Given the description of an element on the screen output the (x, y) to click on. 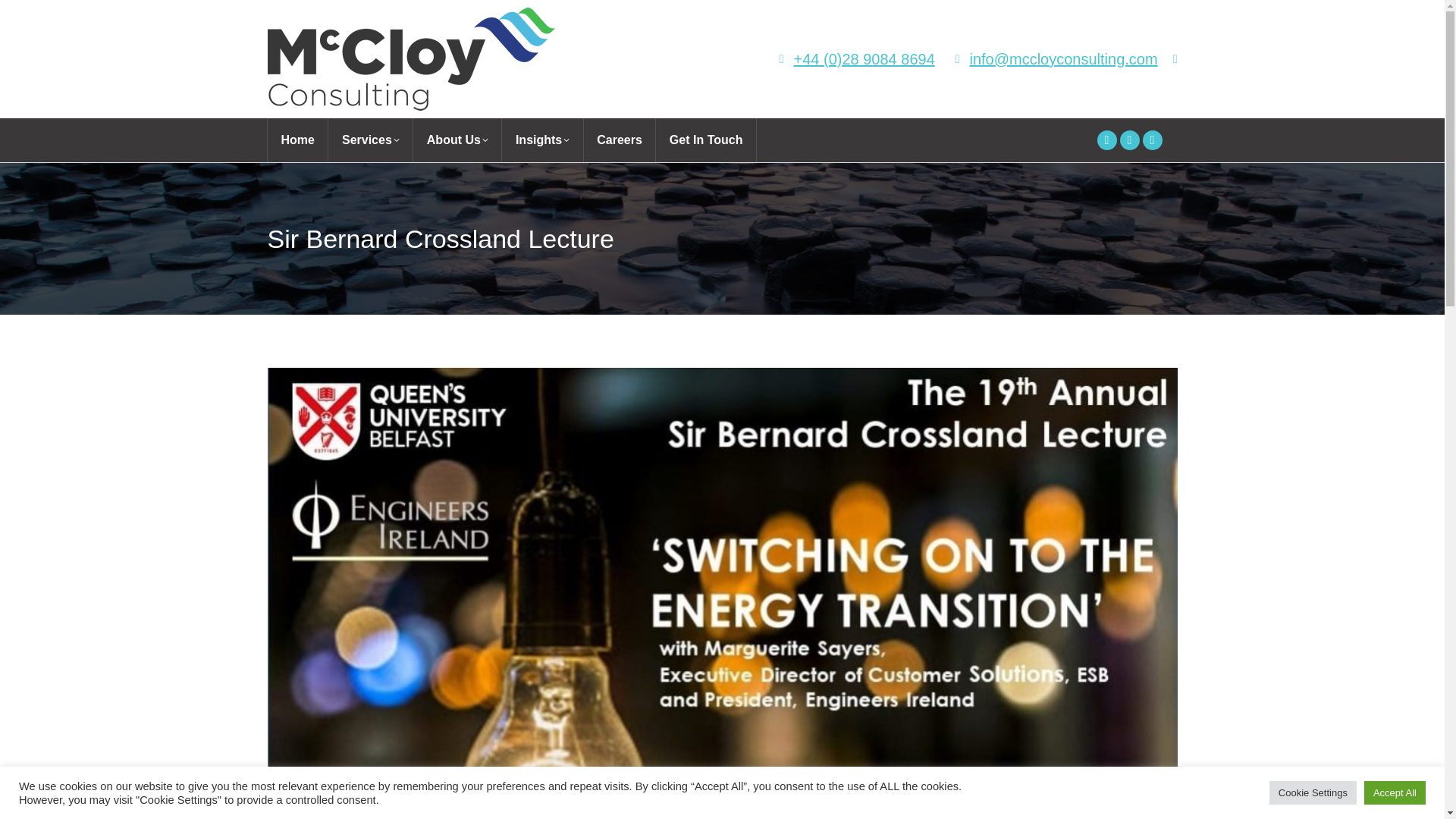
Facebook page opens in new window (1151, 139)
Home (297, 139)
X page opens in new window (1128, 139)
Services (371, 139)
Linkedin page opens in new window (1106, 139)
Go! (23, 15)
